Given the description of an element on the screen output the (x, y) to click on. 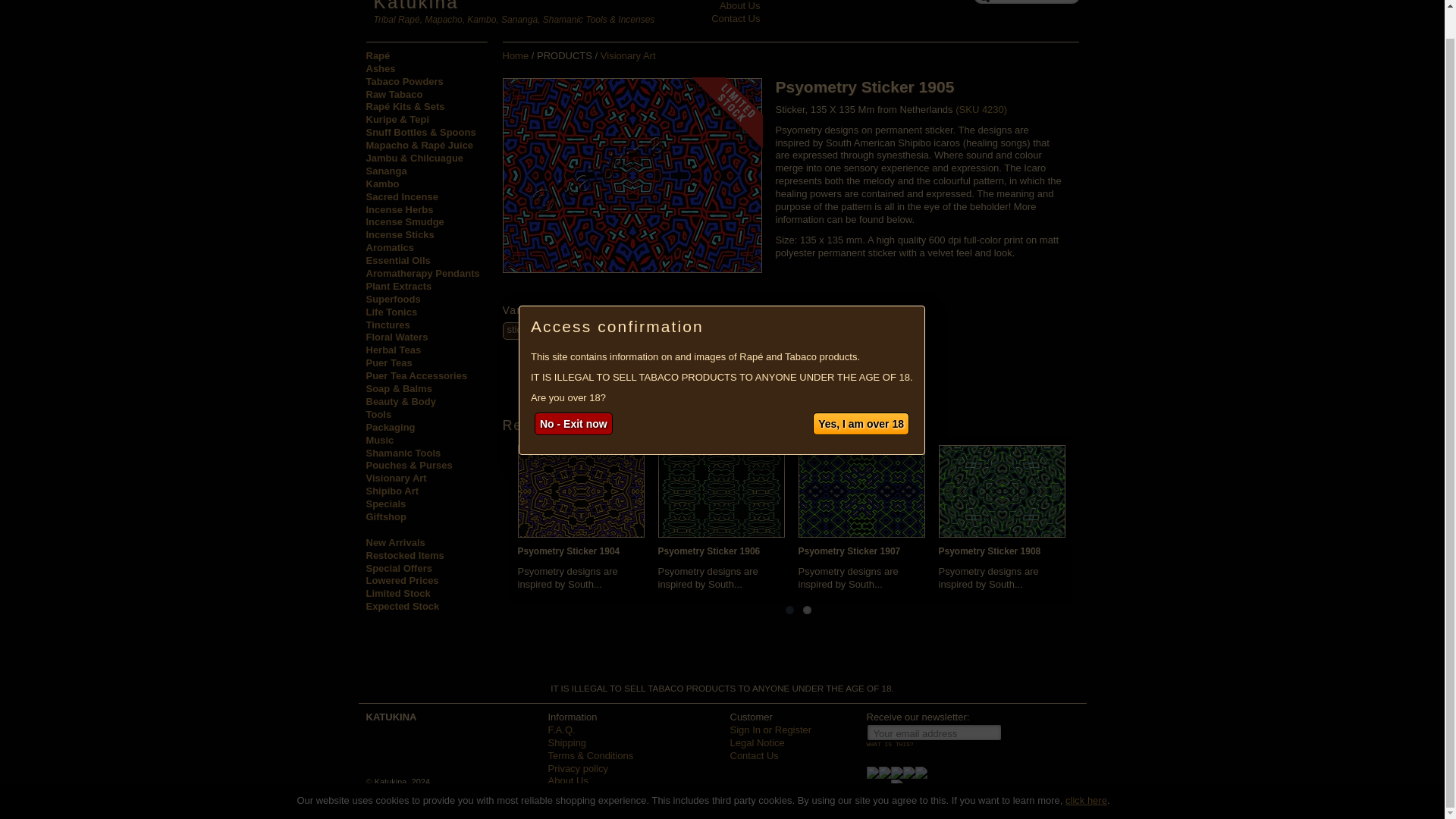
Tools (425, 414)
Incense Smudge (425, 222)
1 (712, 332)
Puer Teas (425, 363)
Superfoods (425, 299)
Raw Tabaco (425, 94)
ADD TO ORDER (777, 331)
Incense Sticks (425, 235)
Puer Tea Accessories (425, 376)
Sananga (425, 171)
Tabaco Powders (425, 82)
Life Tonics (425, 312)
Aromatics (425, 247)
Herbal Teas (425, 350)
Sacred Incense (425, 196)
